Given the description of an element on the screen output the (x, y) to click on. 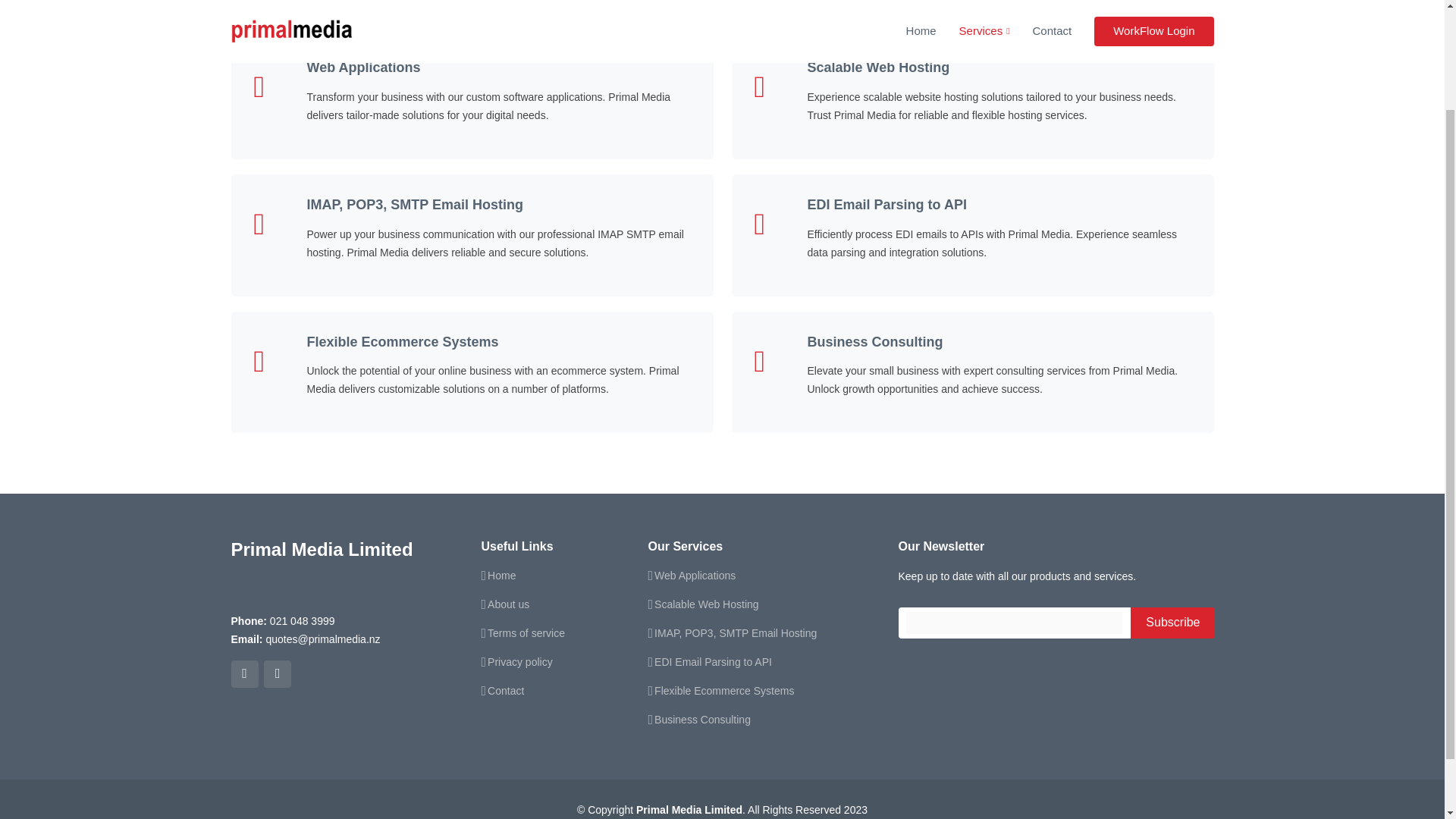
IMAP, POP3, SMTP Email Hosting (734, 633)
Subscribe (1172, 622)
Privacy policy (520, 661)
Flexible Ecommerce Systems (401, 341)
EDI Email Parsing to API (886, 204)
Home (501, 575)
Subscribe (1172, 622)
Flexible Ecommerce Systems (723, 690)
Web Applications (694, 575)
Contact (505, 690)
Terms of service (525, 633)
Scalable Web Hosting (705, 603)
Web Applications (362, 67)
EDI Email Parsing to API (712, 661)
Business Consulting (702, 719)
